Given the description of an element on the screen output the (x, y) to click on. 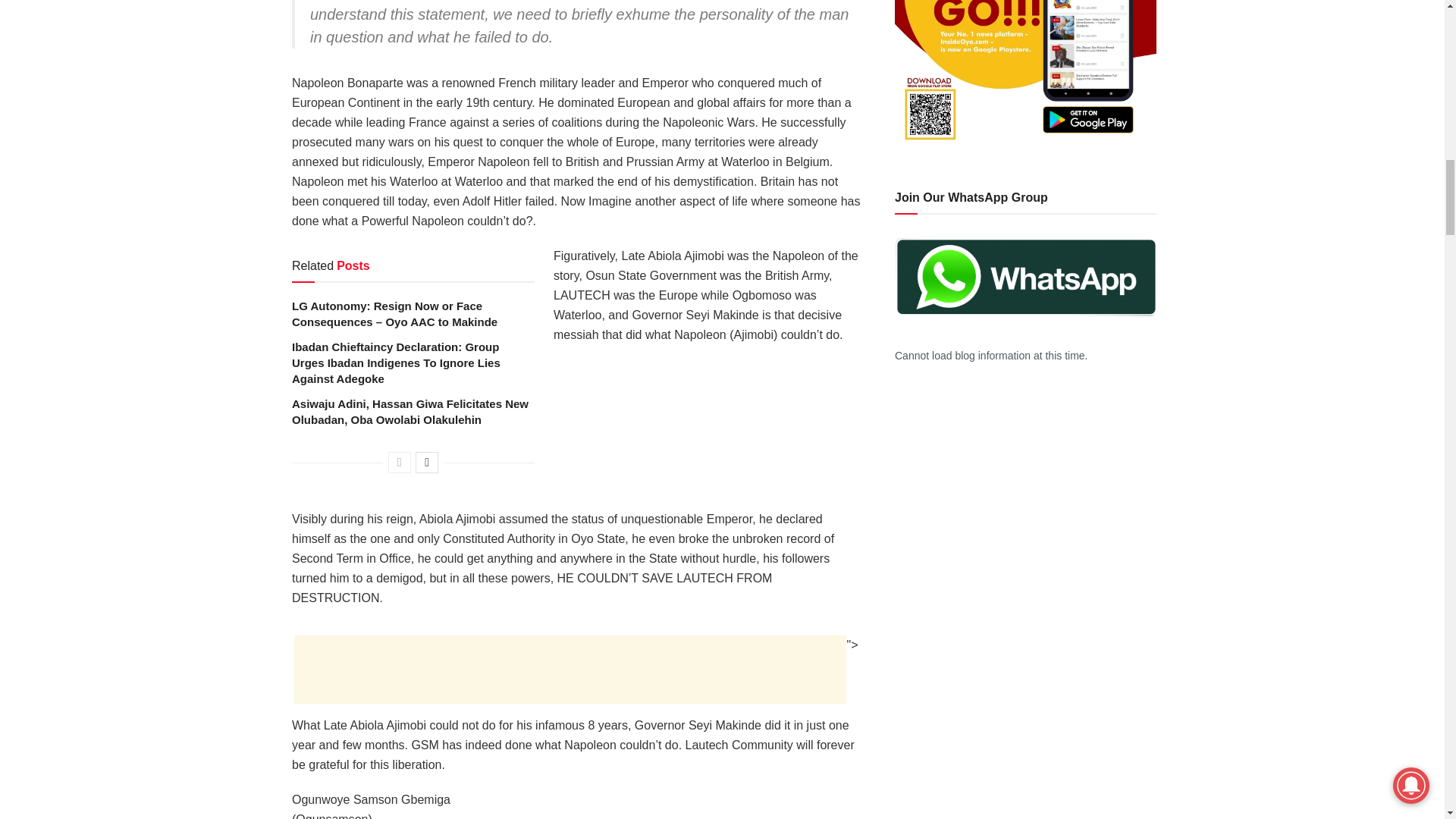
Next (426, 462)
Previous (399, 462)
